Given the description of an element on the screen output the (x, y) to click on. 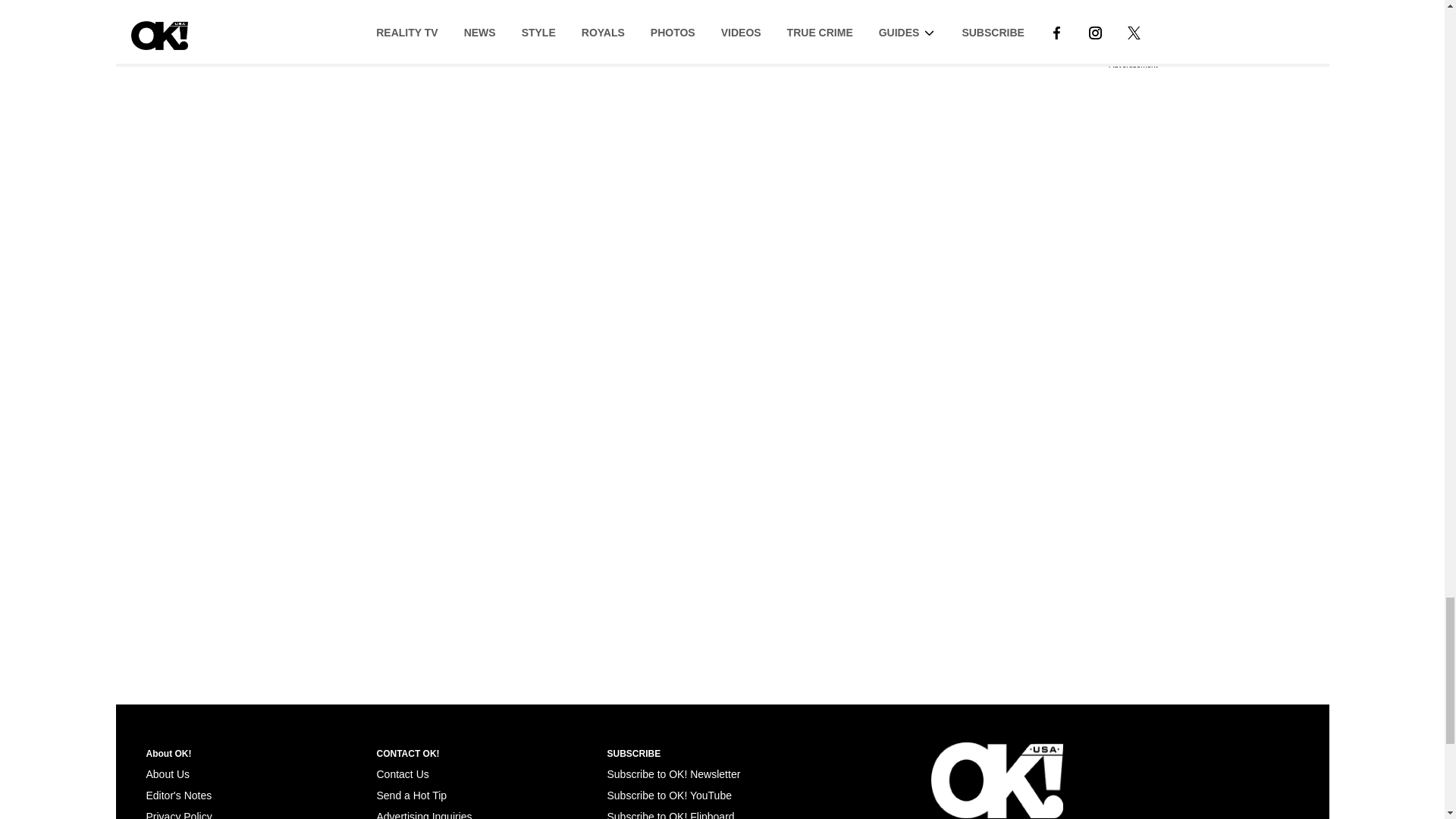
Contact Us (401, 774)
Editor's Notes (178, 795)
Privacy Policy (178, 814)
About Us (167, 774)
Send a Hot Tip (410, 795)
